Given the description of an element on the screen output the (x, y) to click on. 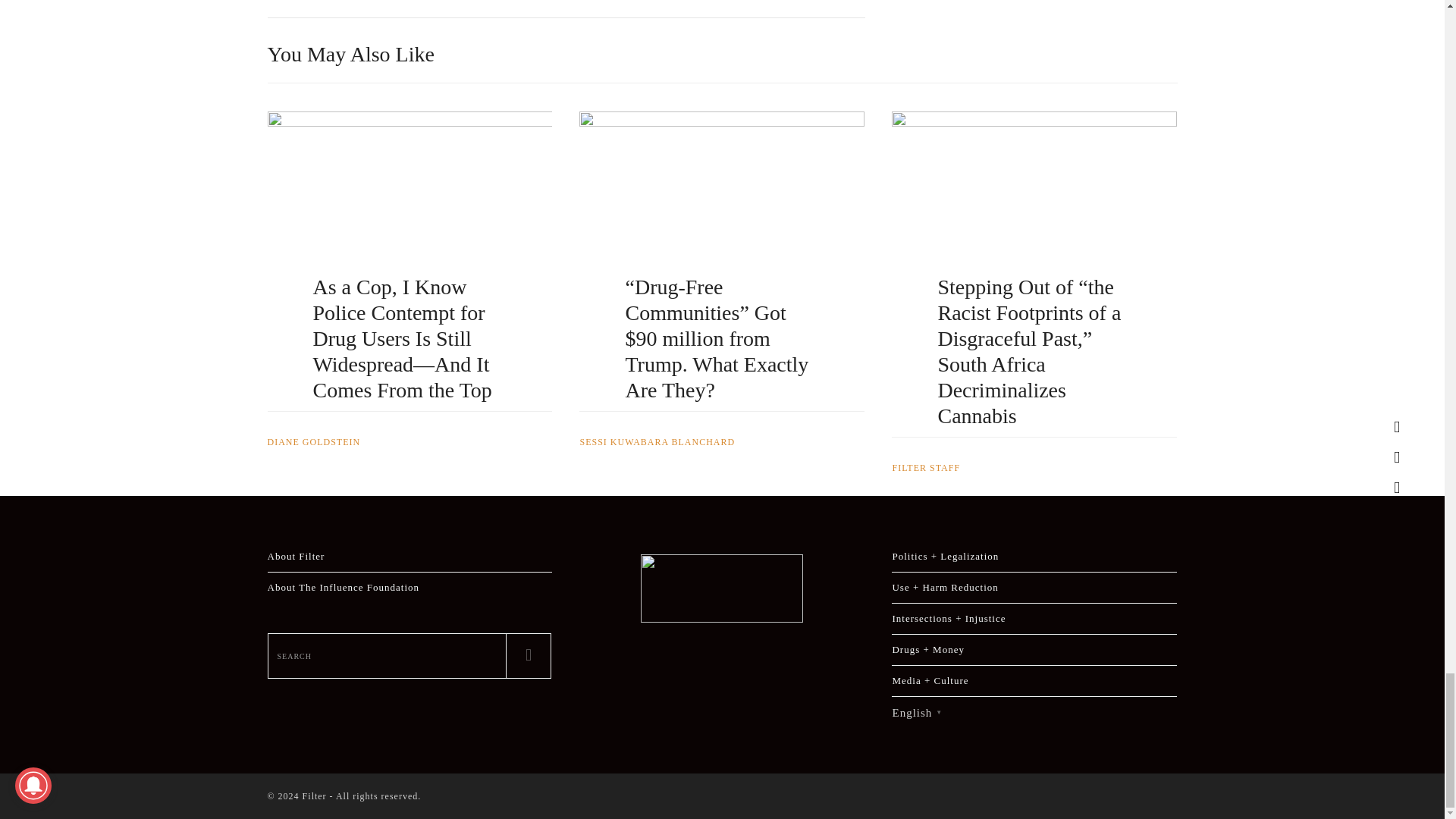
search (386, 655)
